Given the description of an element on the screen output the (x, y) to click on. 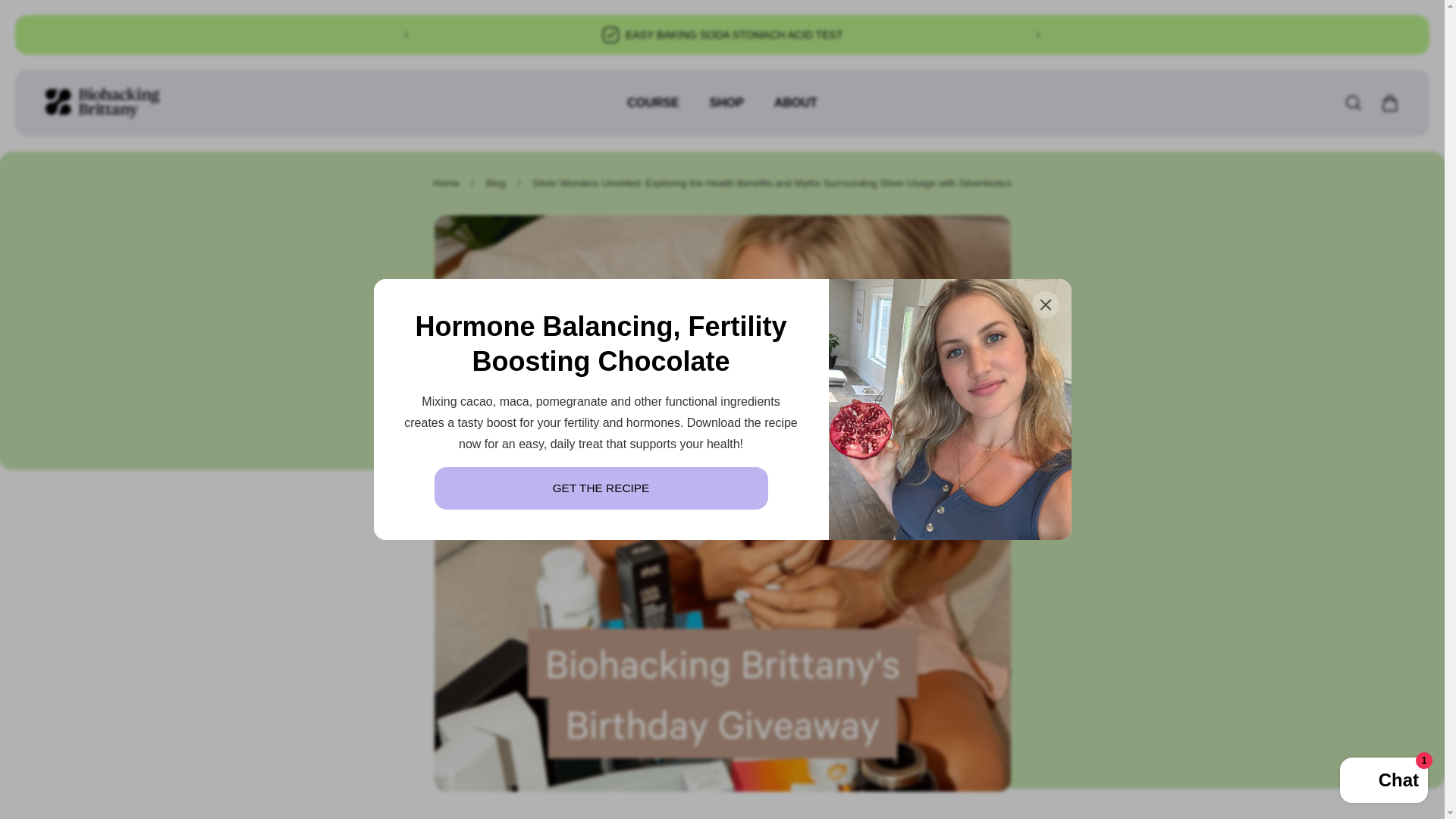
Home (446, 183)
ABOUT (795, 110)
COURSE (652, 110)
SHOP (726, 110)
Blog (495, 183)
Shopify online store chat (1383, 781)
GET THE RECIPE (600, 487)
